Given the description of an element on the screen output the (x, y) to click on. 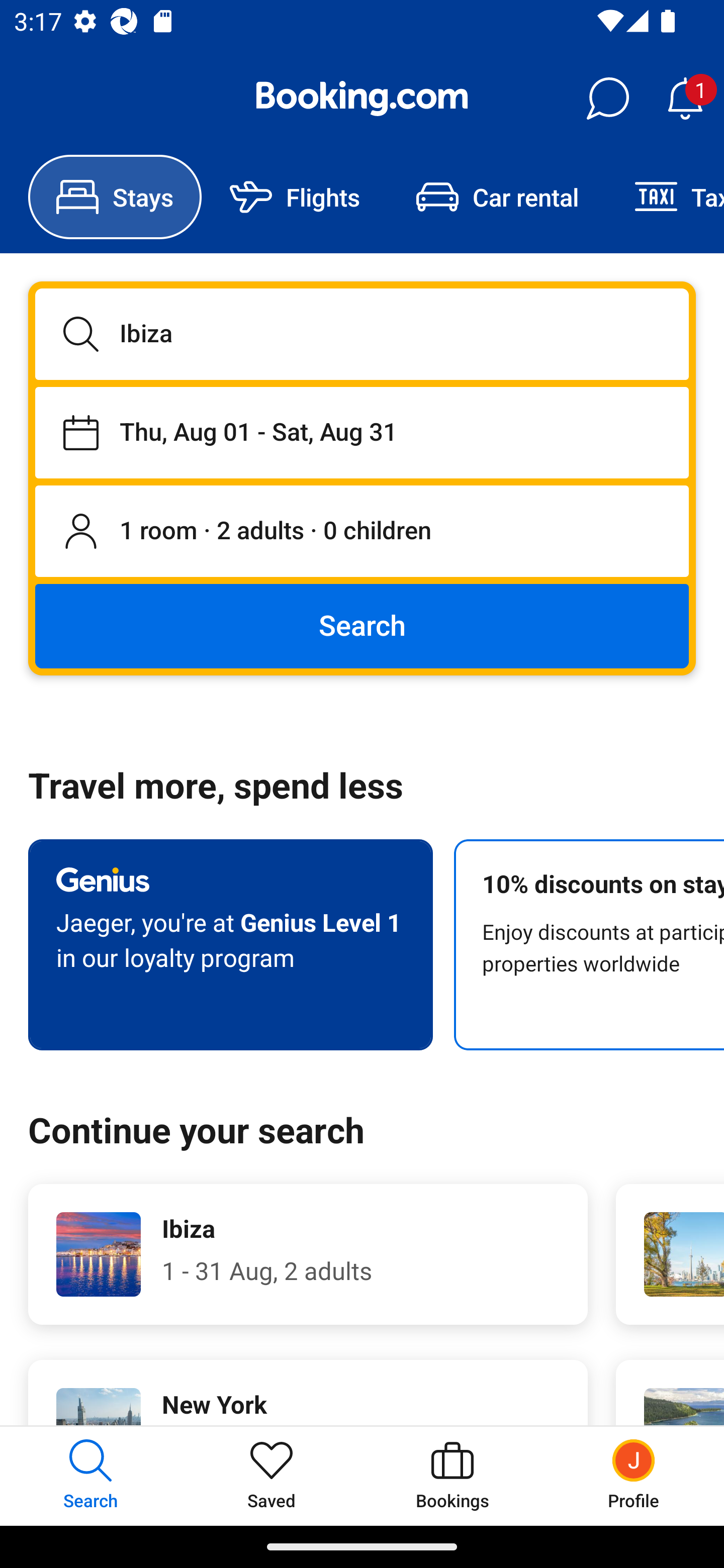
Messages (607, 98)
Notifications (685, 98)
Stays (114, 197)
Flights (294, 197)
Car rental (497, 197)
Taxi (665, 197)
Ibiza (361, 333)
Staying from Thu, Aug 01 until Sat, Aug 31 (361, 432)
1 room, 2 adults, 0 children (361, 531)
Search (361, 625)
Ibiza 1 - 31 Aug, 2 adults (307, 1253)
Saved (271, 1475)
Bookings (452, 1475)
Profile (633, 1475)
